Given the description of an element on the screen output the (x, y) to click on. 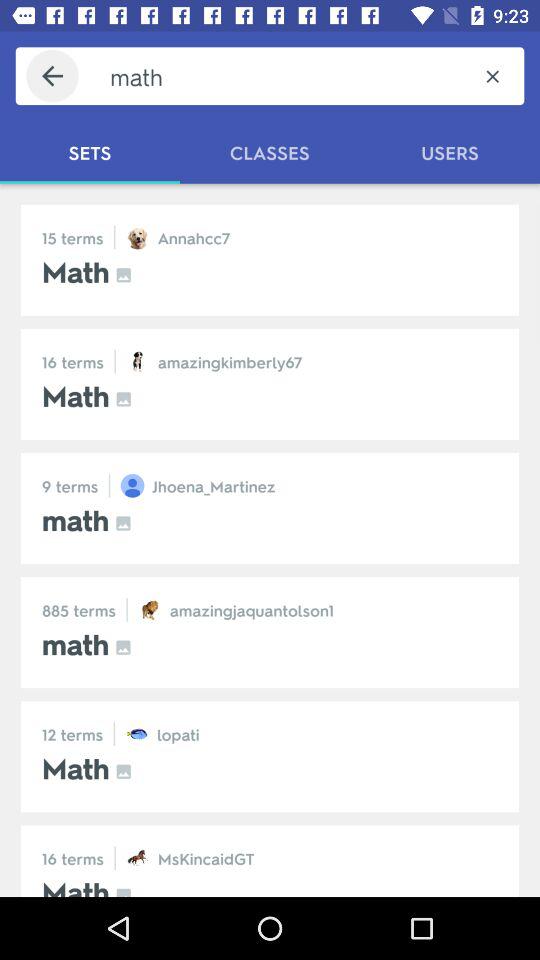
click the item above users (492, 75)
